Given the description of an element on the screen output the (x, y) to click on. 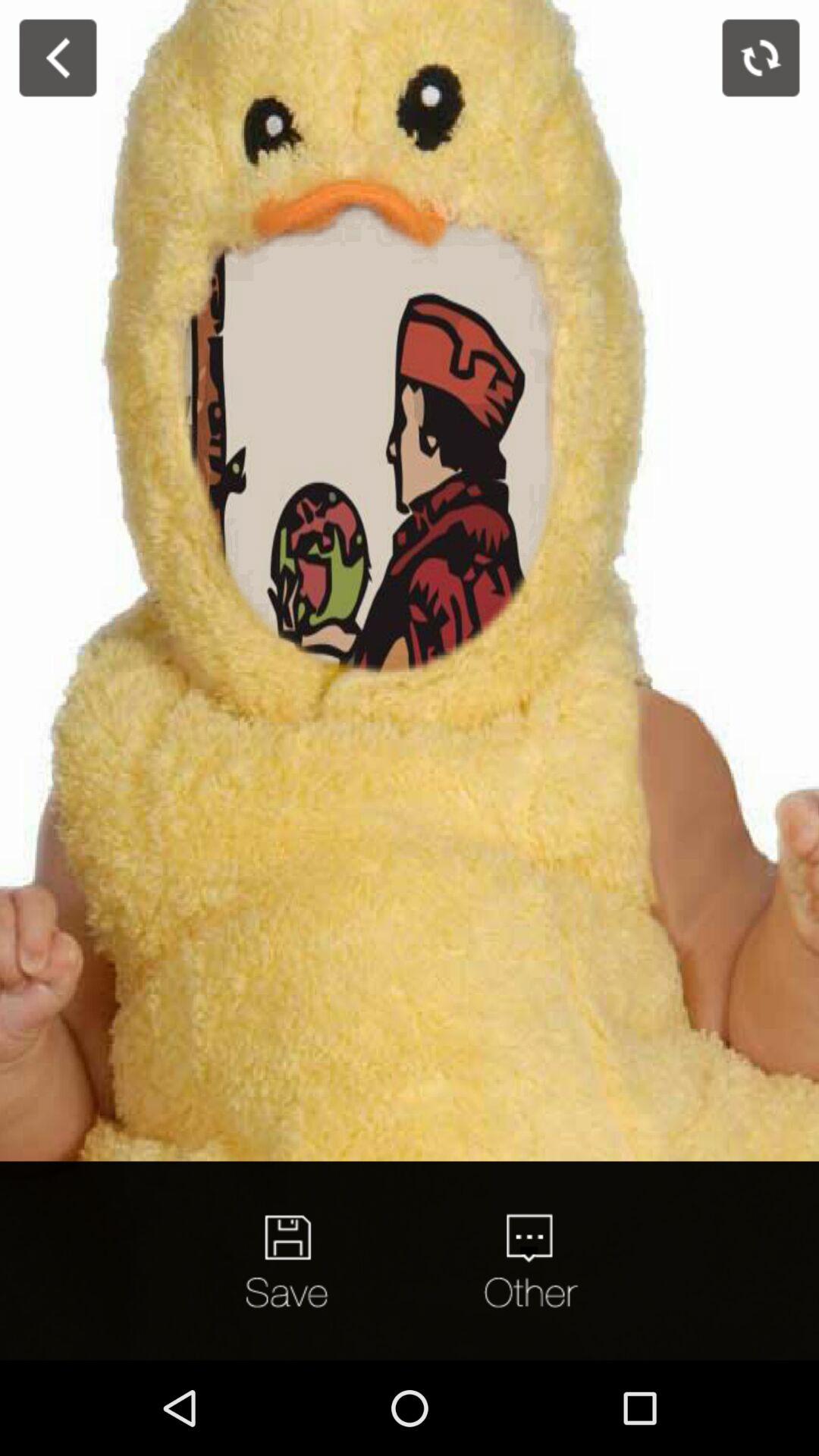
save your creation (289, 1260)
